Given the description of an element on the screen output the (x, y) to click on. 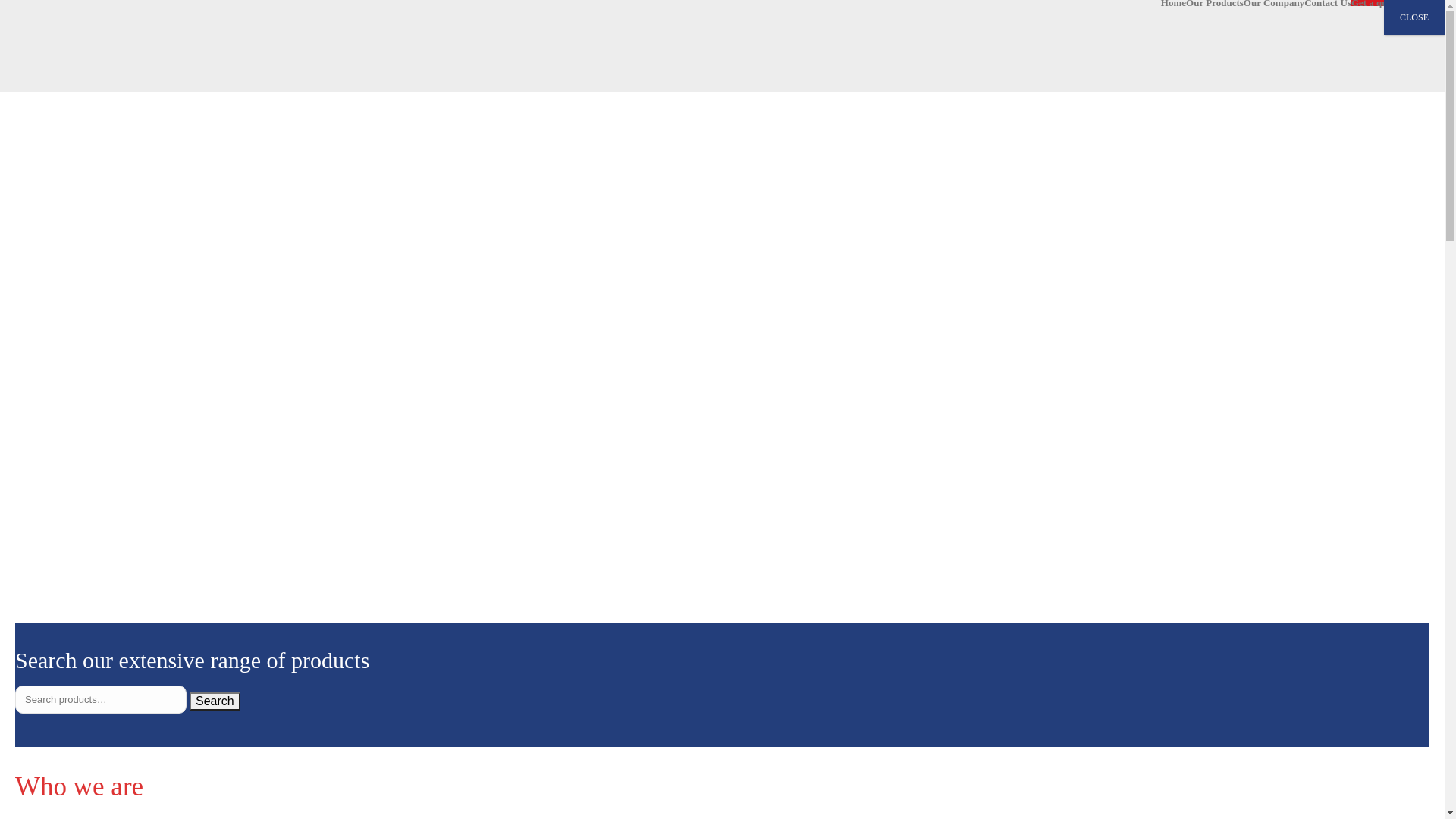
CLOSE Element type: text (1413, 17)
Contact Us Element type: text (1327, 3)
Get a quote Element type: text (1375, 3)
Search Element type: text (214, 700)
Our Company Element type: text (1273, 3)
Home Element type: text (1173, 3)
Our Products Element type: text (1214, 3)
